Given the description of an element on the screen output the (x, y) to click on. 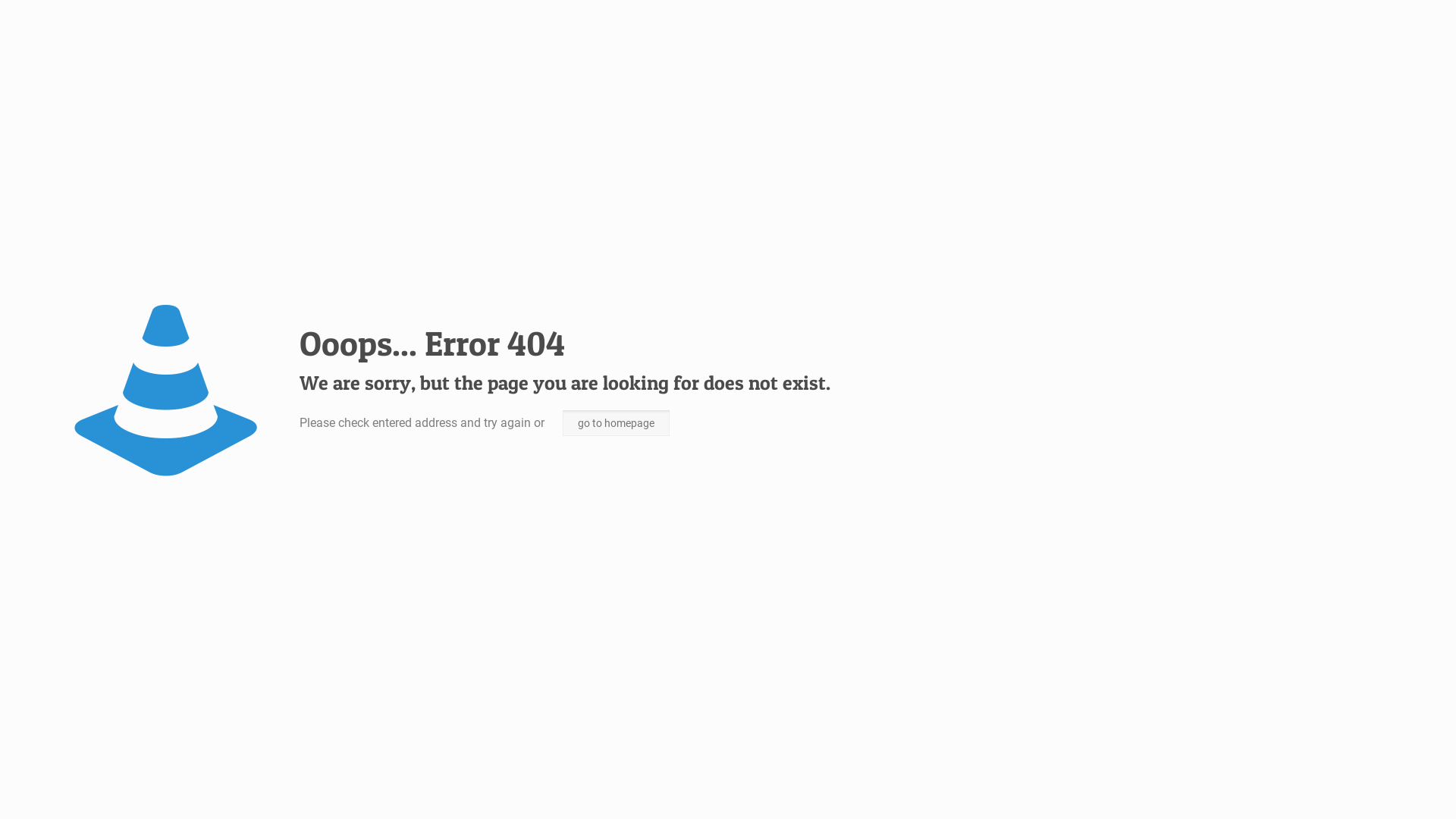
go to homepage Element type: text (615, 423)
